Given the description of an element on the screen output the (x, y) to click on. 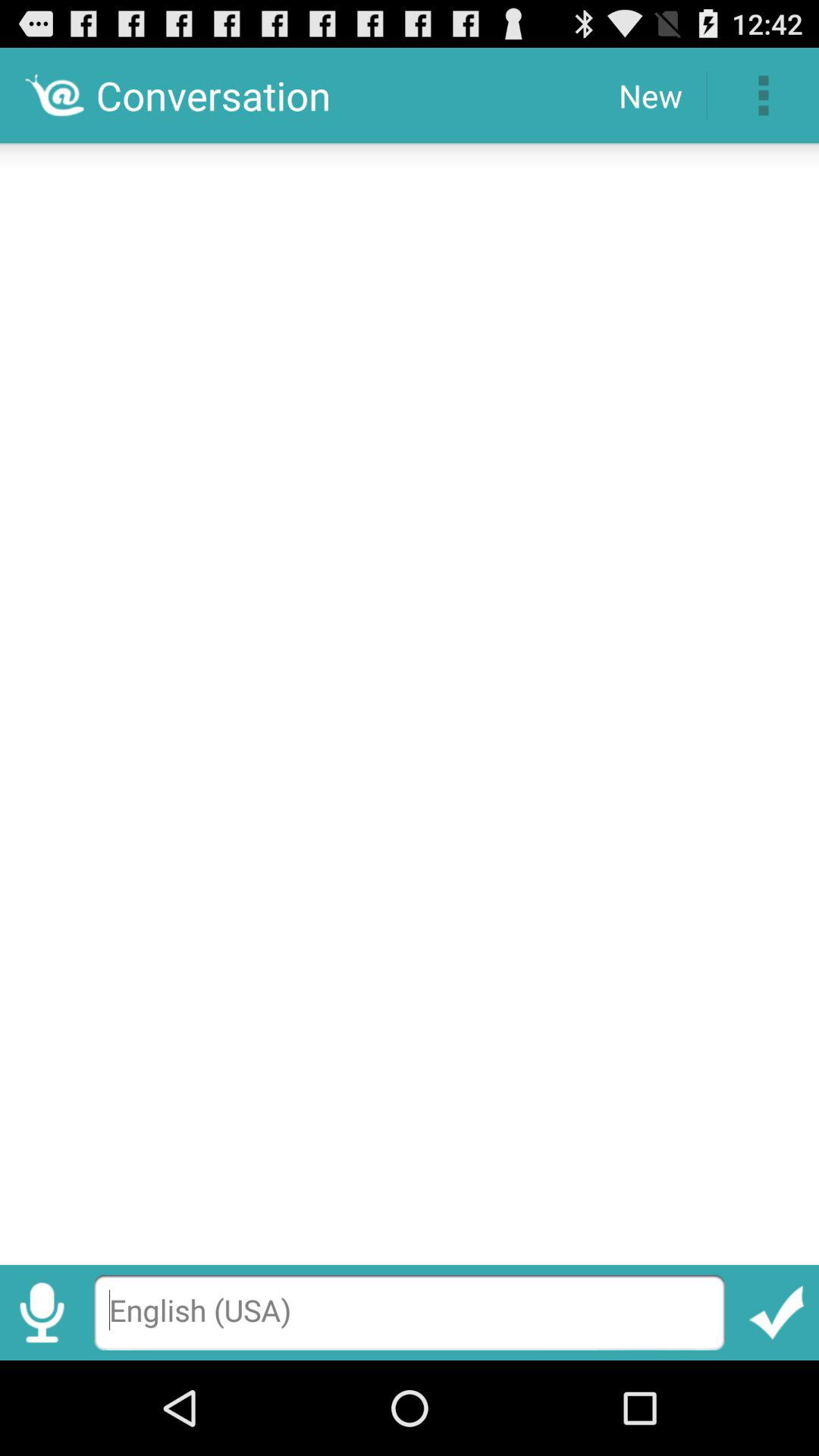
turn off the new (650, 95)
